Given the description of an element on the screen output the (x, y) to click on. 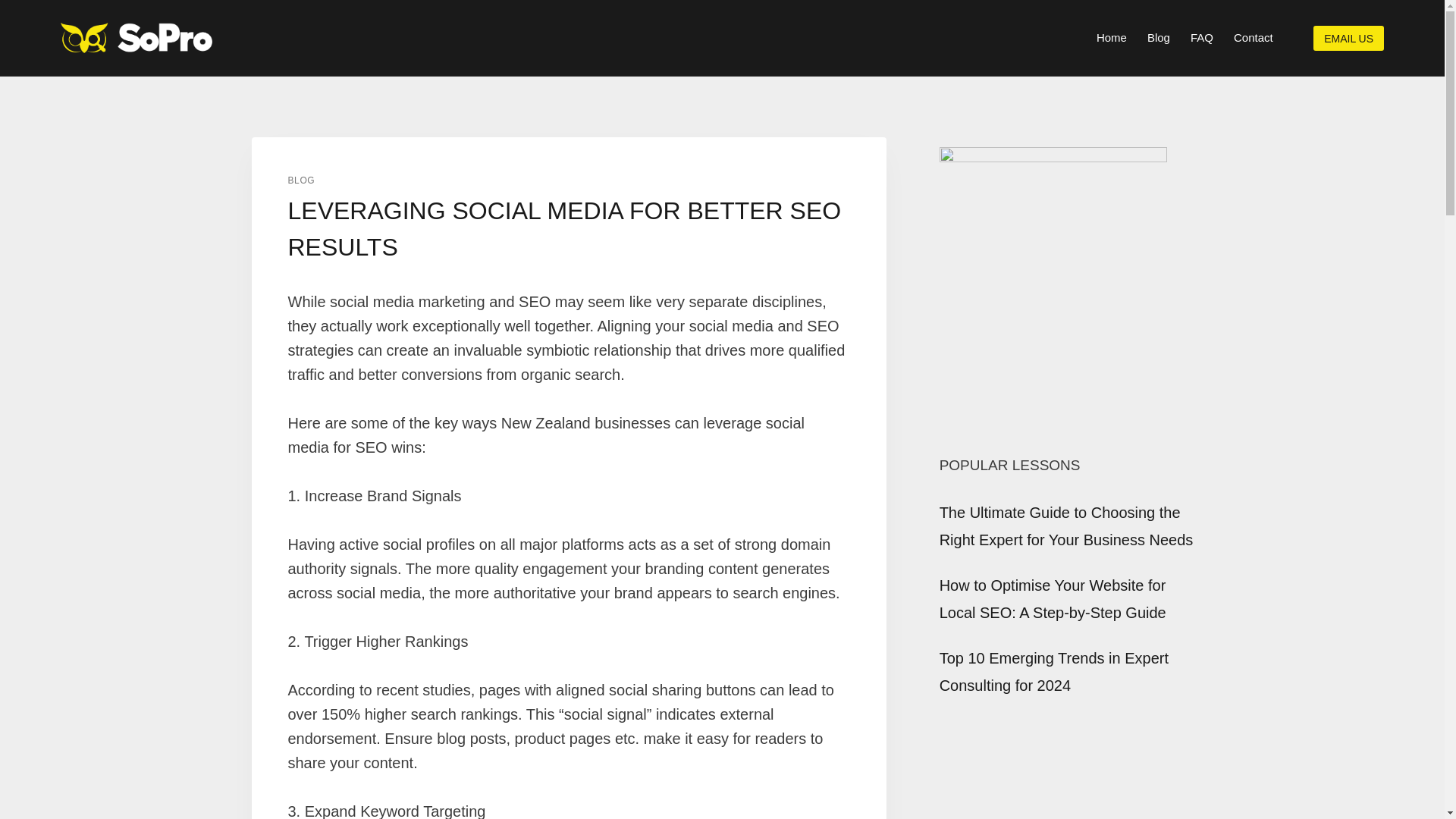
Blog (1158, 38)
Contact (1252, 38)
EMAIL US (1348, 38)
BLOG (301, 180)
Top 10 Emerging Trends in Expert Consulting for 2024 (1054, 671)
FAQ (1201, 38)
Home (1111, 38)
